Given the description of an element on the screen output the (x, y) to click on. 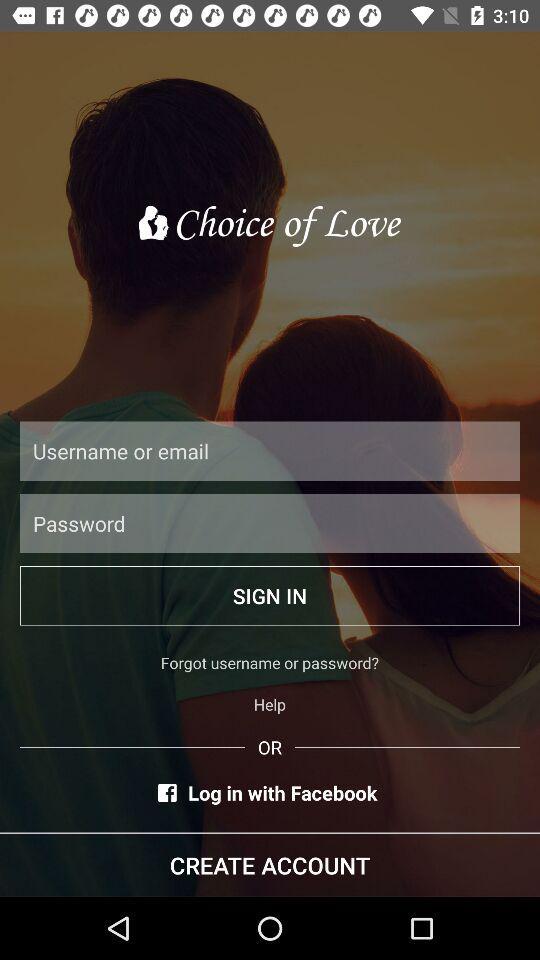
open icon below or (269, 792)
